Given the description of an element on the screen output the (x, y) to click on. 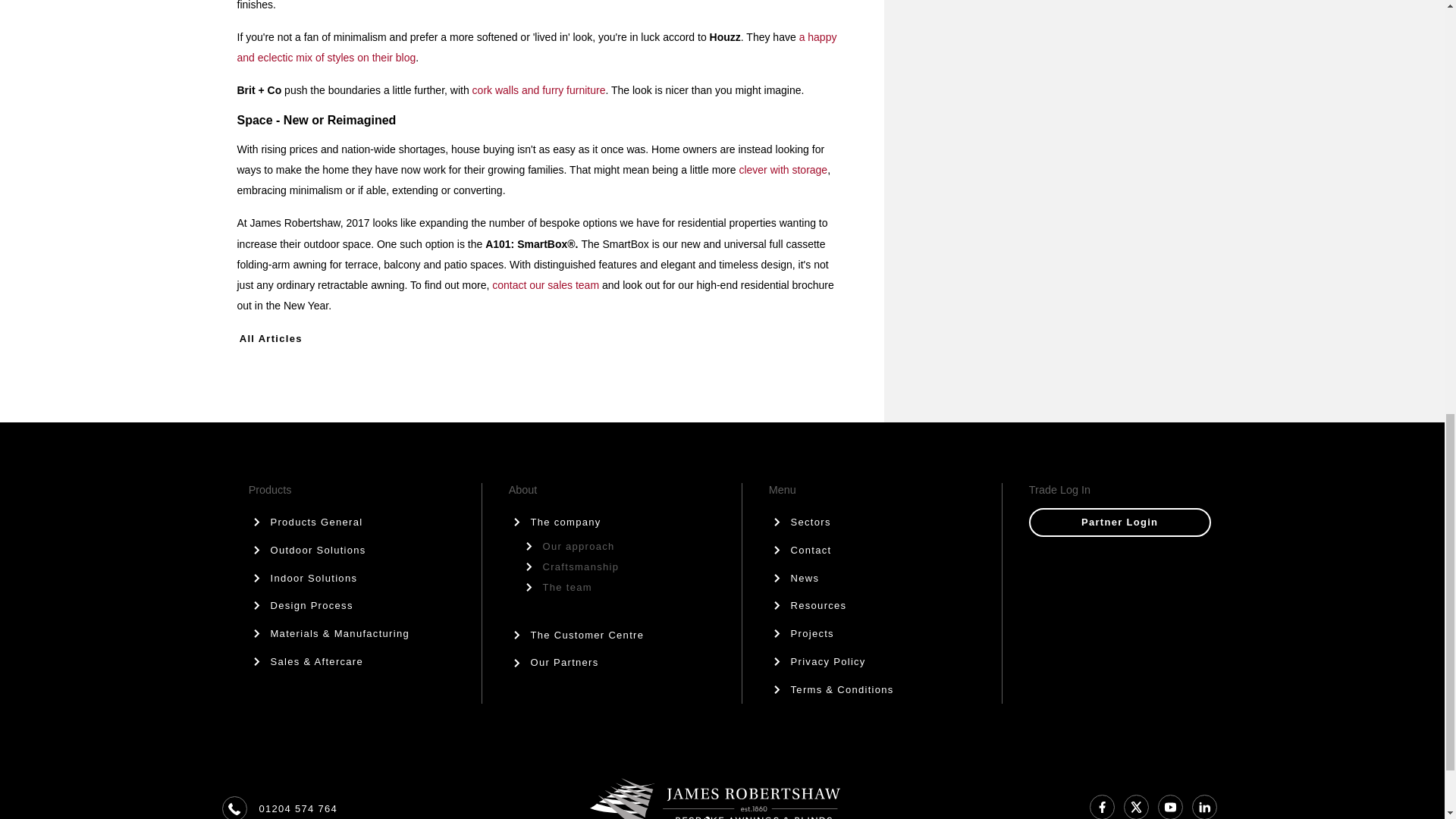
The team (625, 587)
Craftsmanship (625, 566)
Our approach (625, 546)
